Given the description of an element on the screen output the (x, y) to click on. 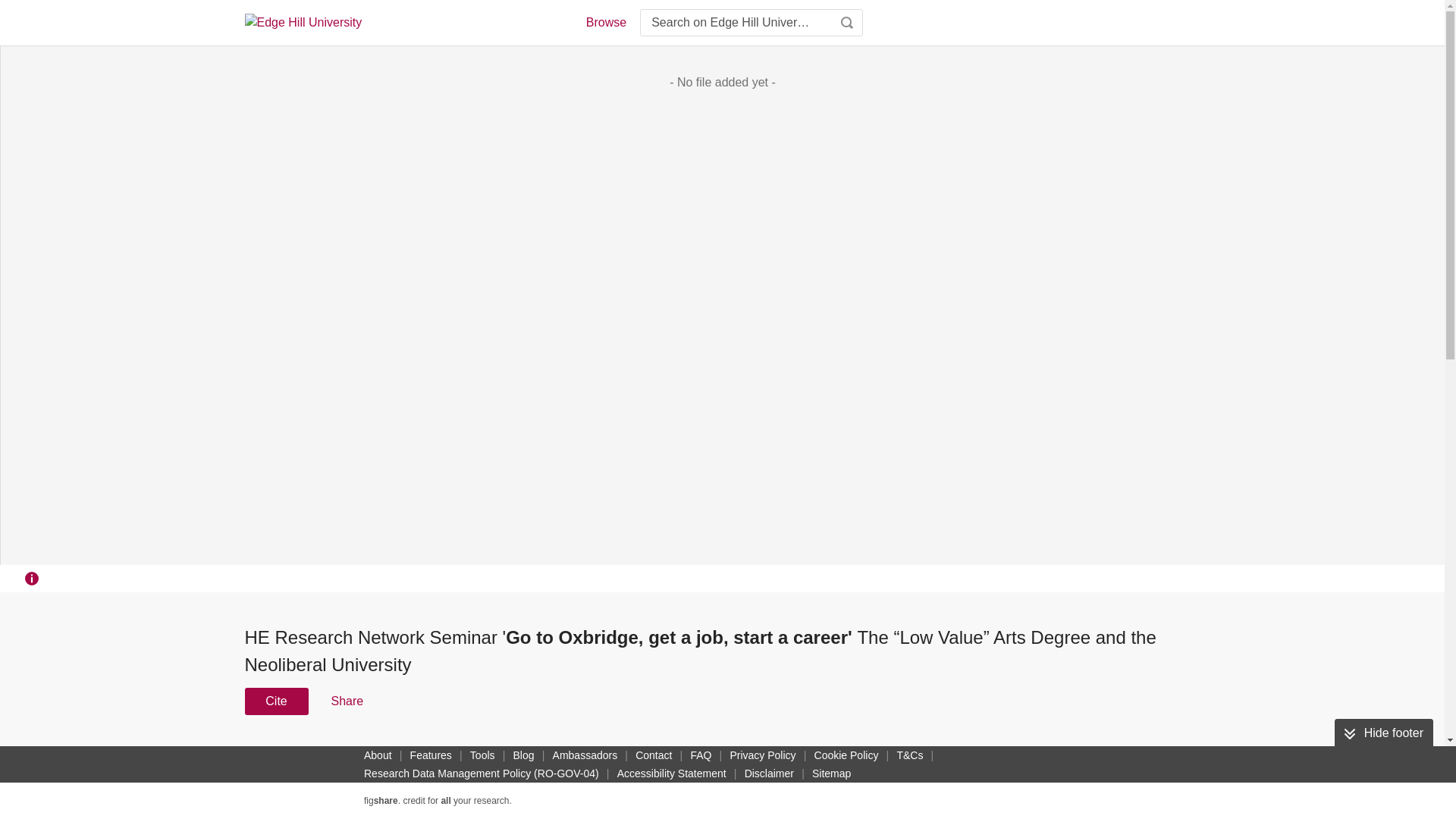
Hide footer (1383, 733)
Share (346, 700)
About (377, 755)
Naomi Hodgson (617, 779)
Version 2 (273, 750)
Cite (275, 700)
Marlena Chrostowska (555, 788)
USAGE METRICS (976, 755)
Browse (605, 22)
